Given the description of an element on the screen output the (x, y) to click on. 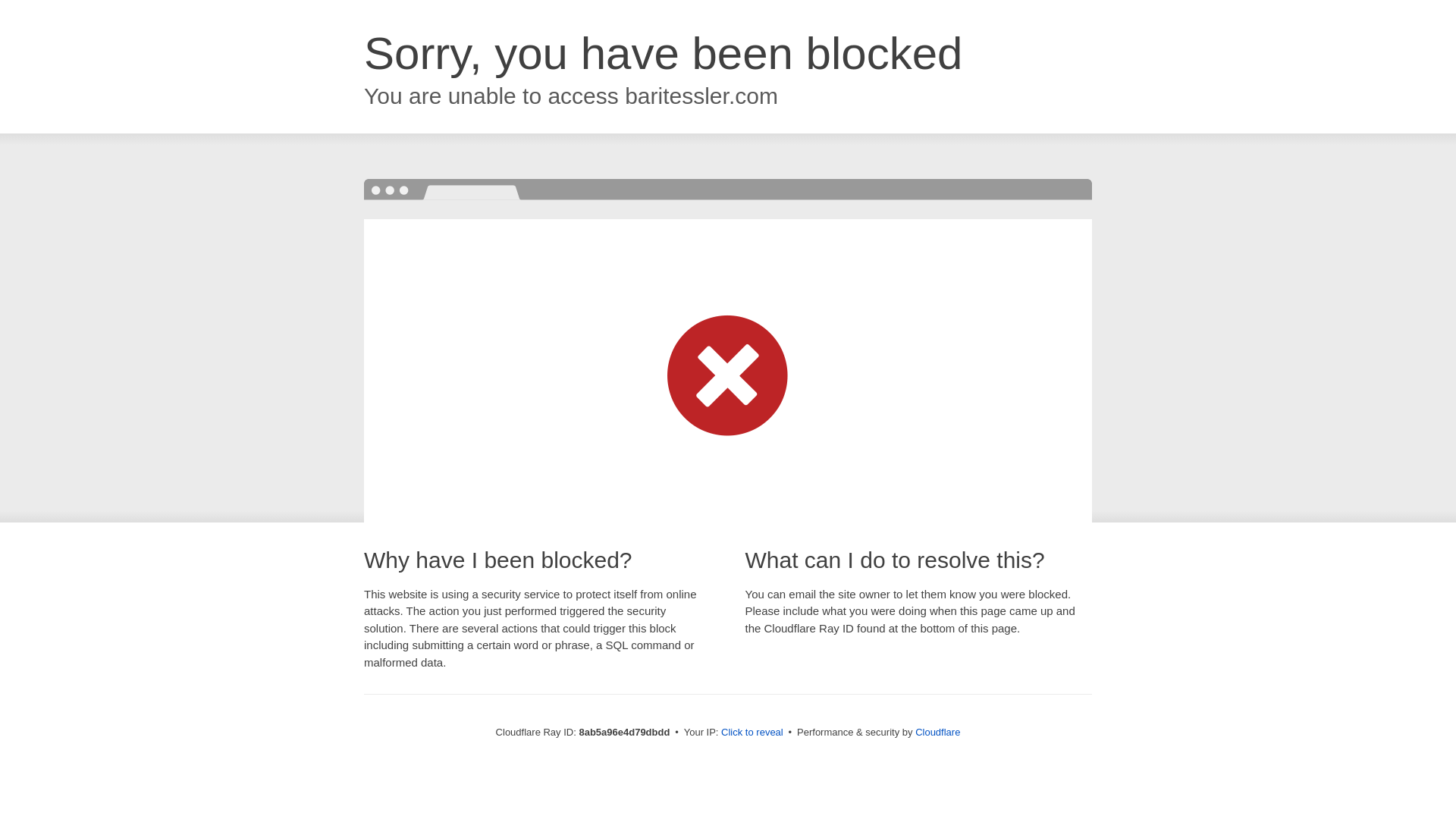
Cloudflare (937, 731)
Click to reveal (751, 732)
